Given the description of an element on the screen output the (x, y) to click on. 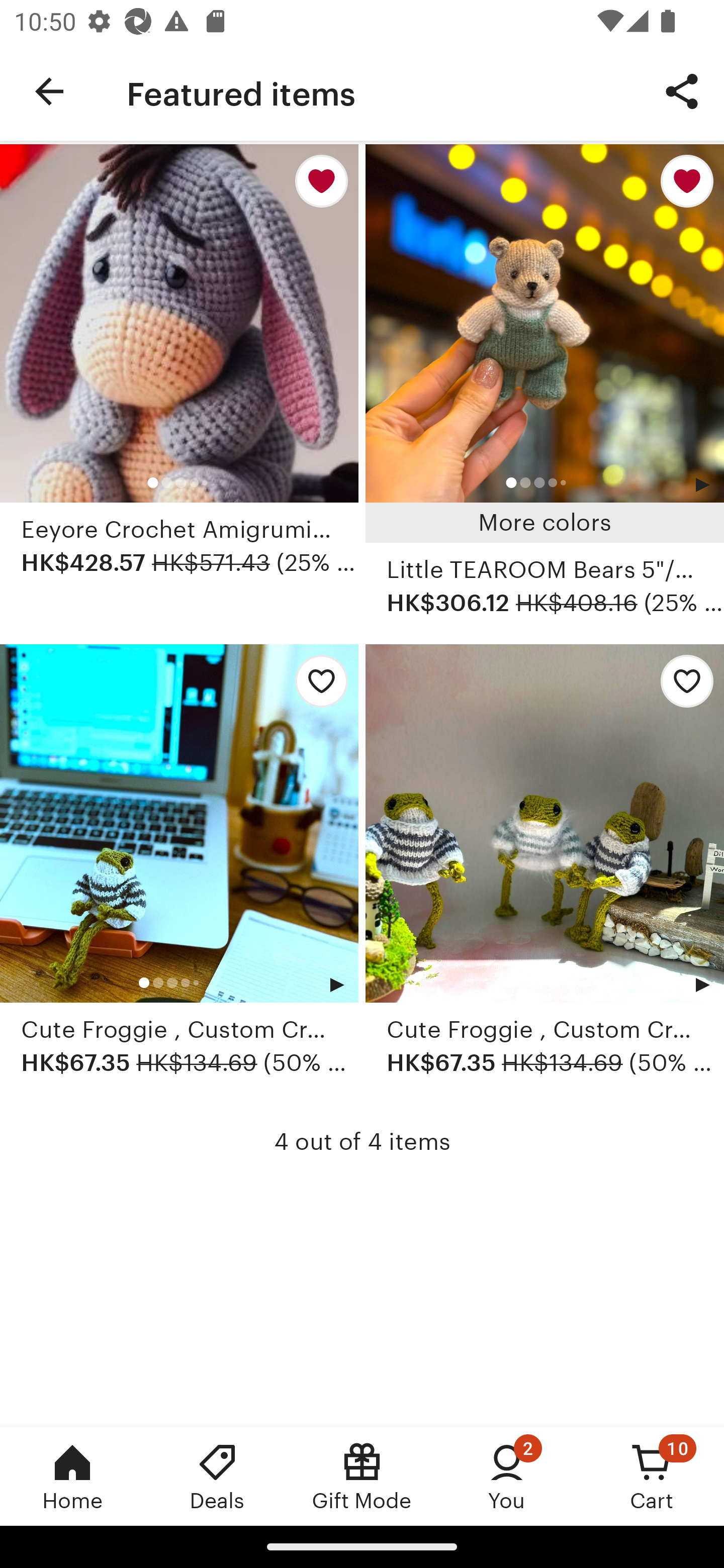
Navigate up (49, 91)
Share Button (681, 90)
Deals (216, 1475)
Gift Mode (361, 1475)
You, 2 new notifications You (506, 1475)
Cart, 10 new notifications Cart (651, 1475)
